Given the description of an element on the screen output the (x, y) to click on. 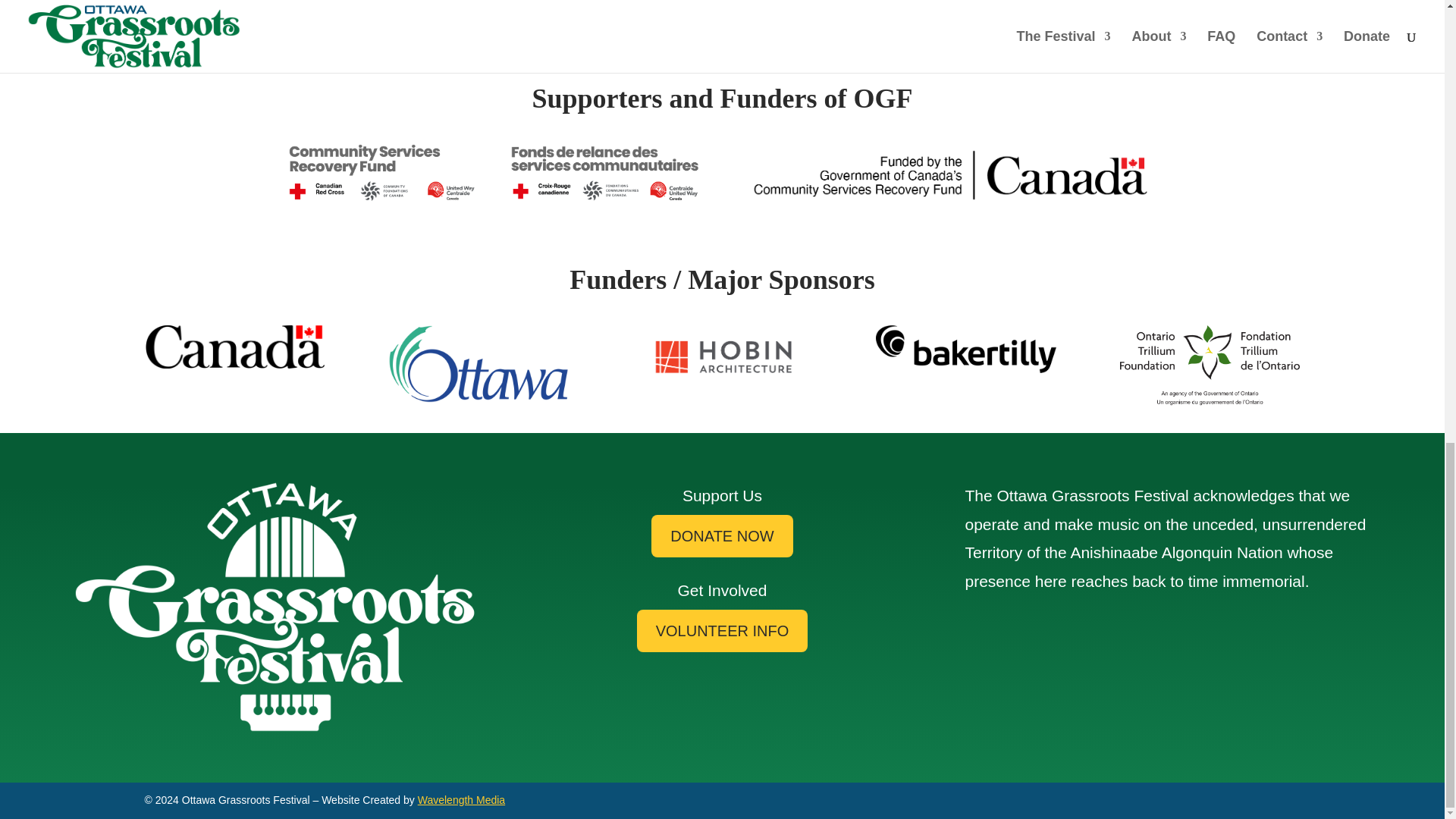
OGF-Logo-Tall-White-2024 (275, 606)
Canada-CSRF (950, 175)
Hobin Architecture hlogo (721, 357)
ottawa (478, 363)
CSRF (493, 172)
